Given the description of an element on the screen output the (x, y) to click on. 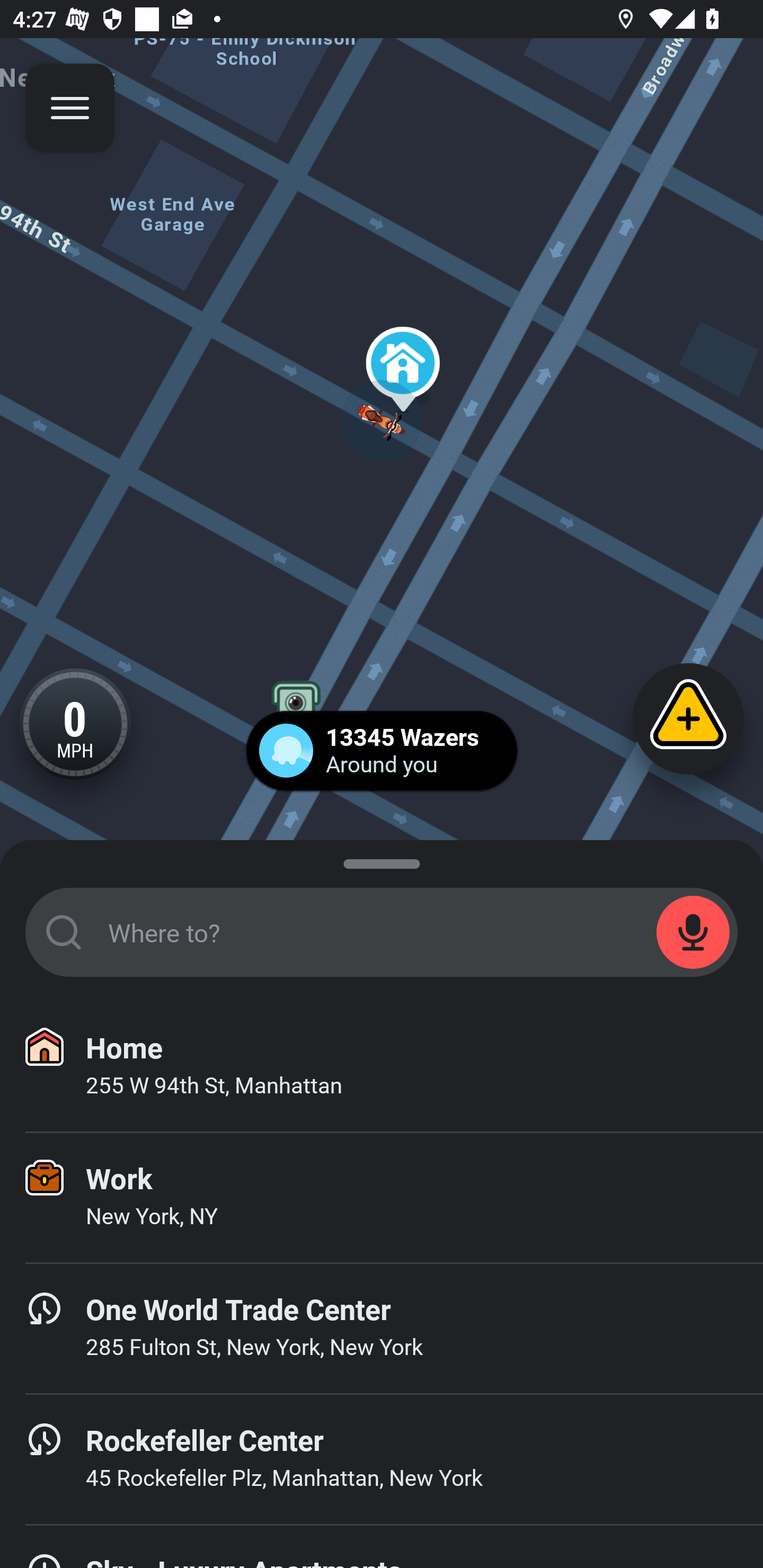
SUGGESTIONS_SHEET_DRAG_HANDLE (381, 860)
START_STATE_SEARCH_FIELD Where to? (381, 931)
Home 255 W 94th St, Manhattan (381, 1066)
Work New York, NY (381, 1197)
